Given the description of an element on the screen output the (x, y) to click on. 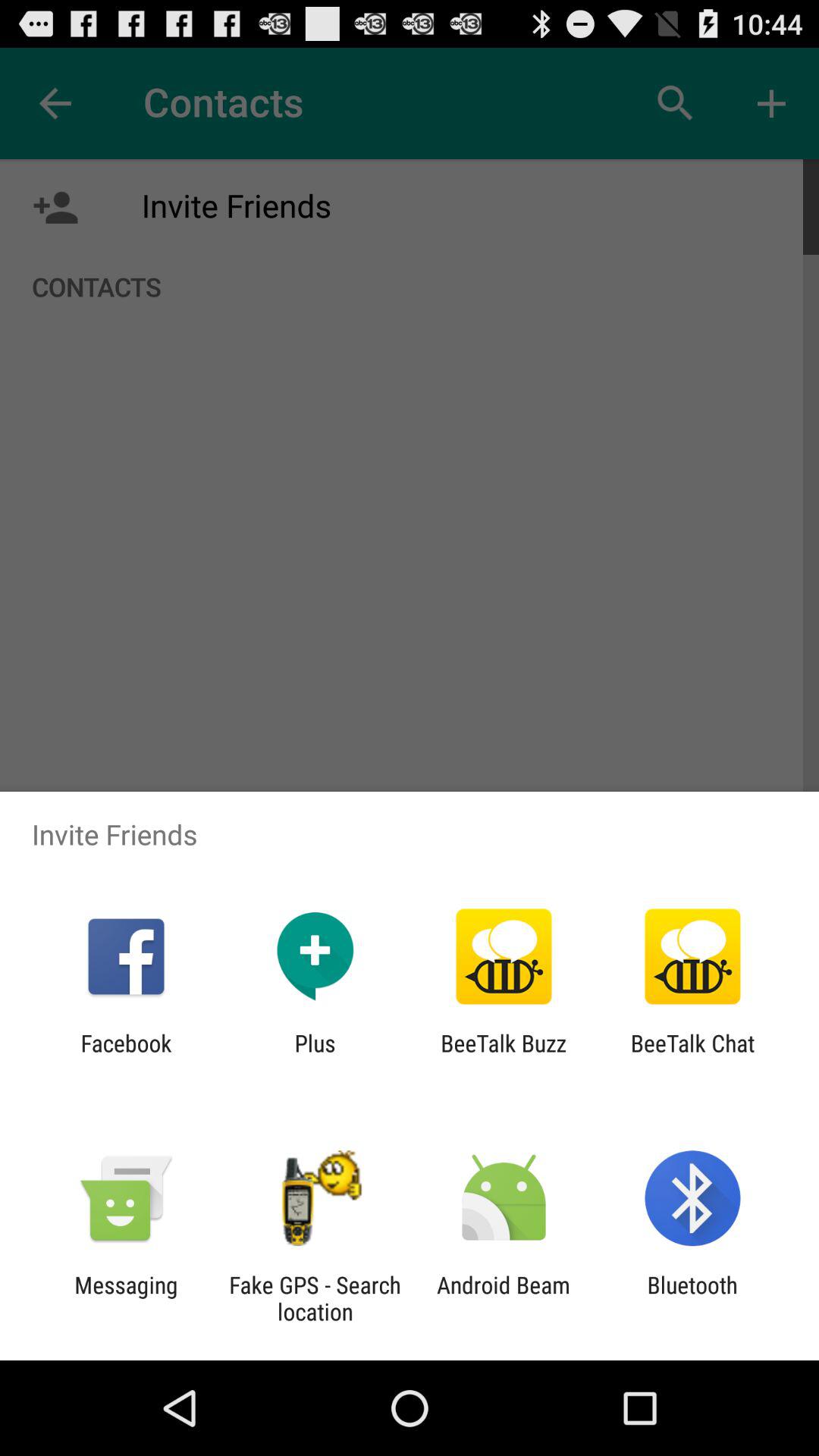
tap the beetalk chat item (692, 1056)
